Given the description of an element on the screen output the (x, y) to click on. 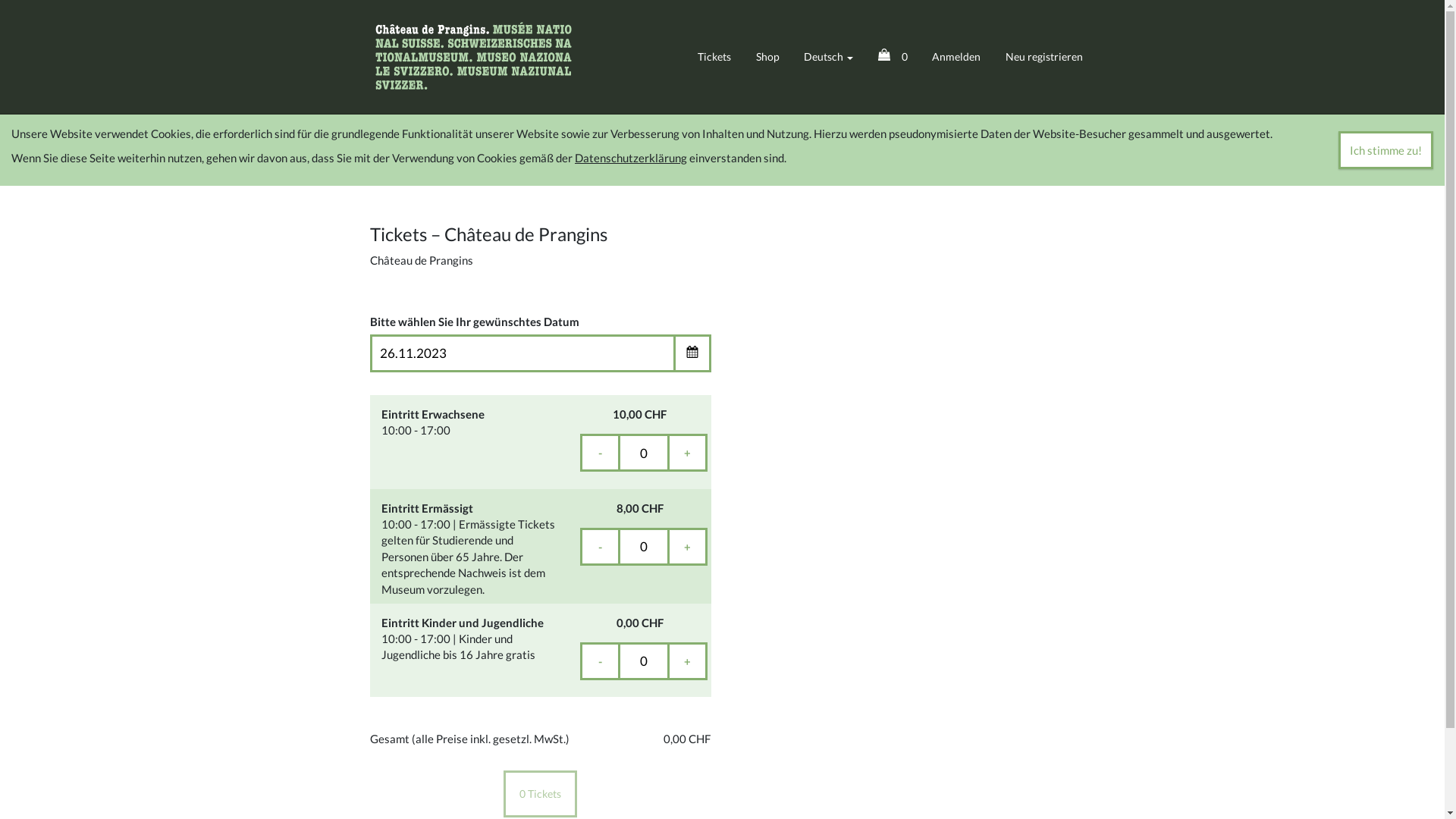
Impressum Element type: text (827, 720)
Anmelden Element type: text (962, 56)
Ich stimme zu! Element type: text (1396, 150)
Versandkosten Element type: text (1087, 720)
Datenschutzbestimmungen Element type: text (969, 720)
Tickets Element type: text (719, 56)
0 Element type: text (897, 56)
0 Tickets Element type: text (546, 506)
Shop Element type: text (772, 56)
Neu registrieren Element type: text (1049, 56)
Online Shop Element type: text (502, 56)
AGB Element type: text (878, 720)
Deutsch Element type: text (833, 56)
